Given the description of an element on the screen output the (x, y) to click on. 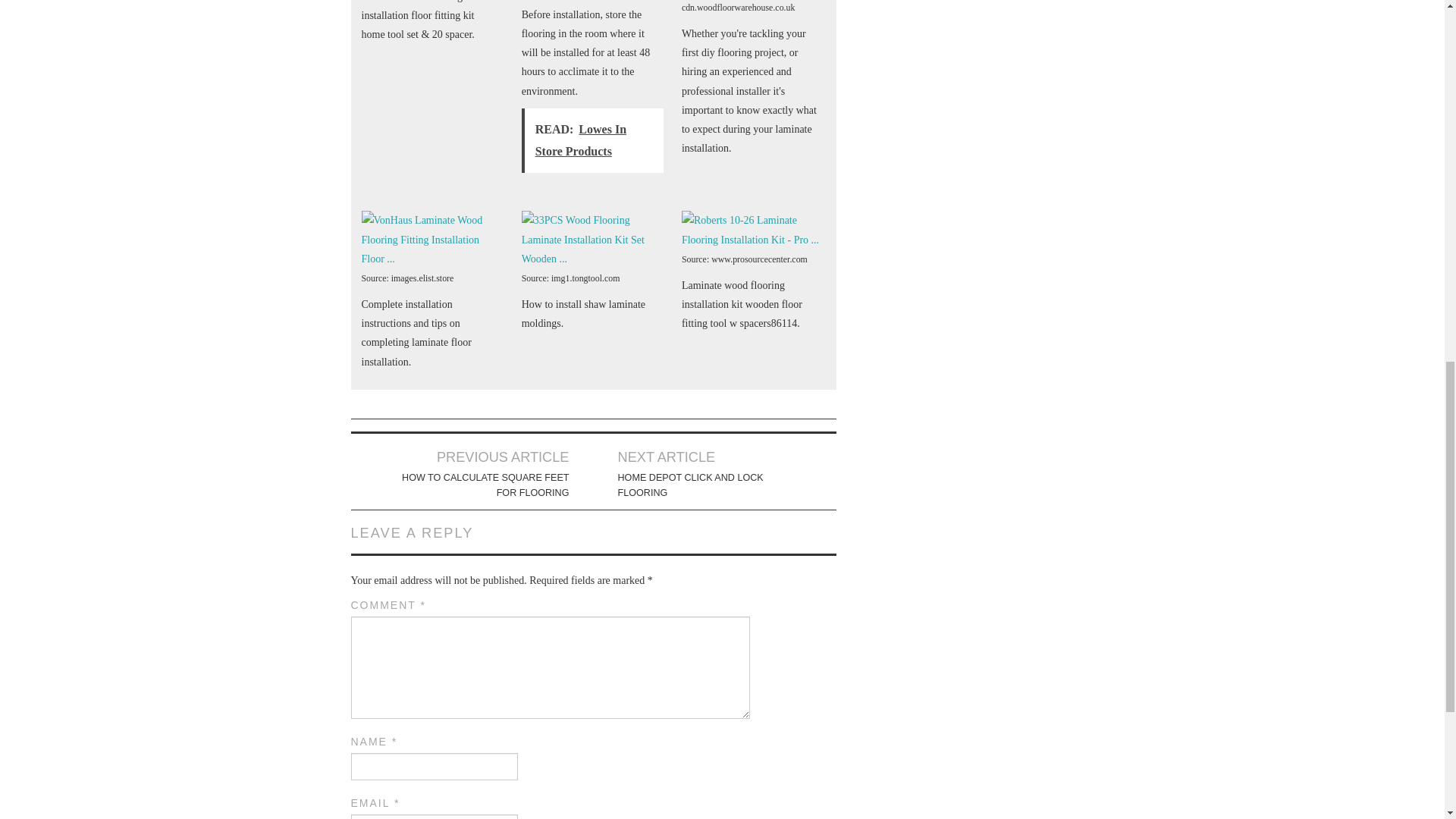
HOW TO CALCULATE SQUARE FEET FOR FLOORING (483, 485)
HOME DEPOT CLICK AND LOCK FLOORING (702, 485)
READ:  Lowes In Store Products (592, 140)
